Given the description of an element on the screen output the (x, y) to click on. 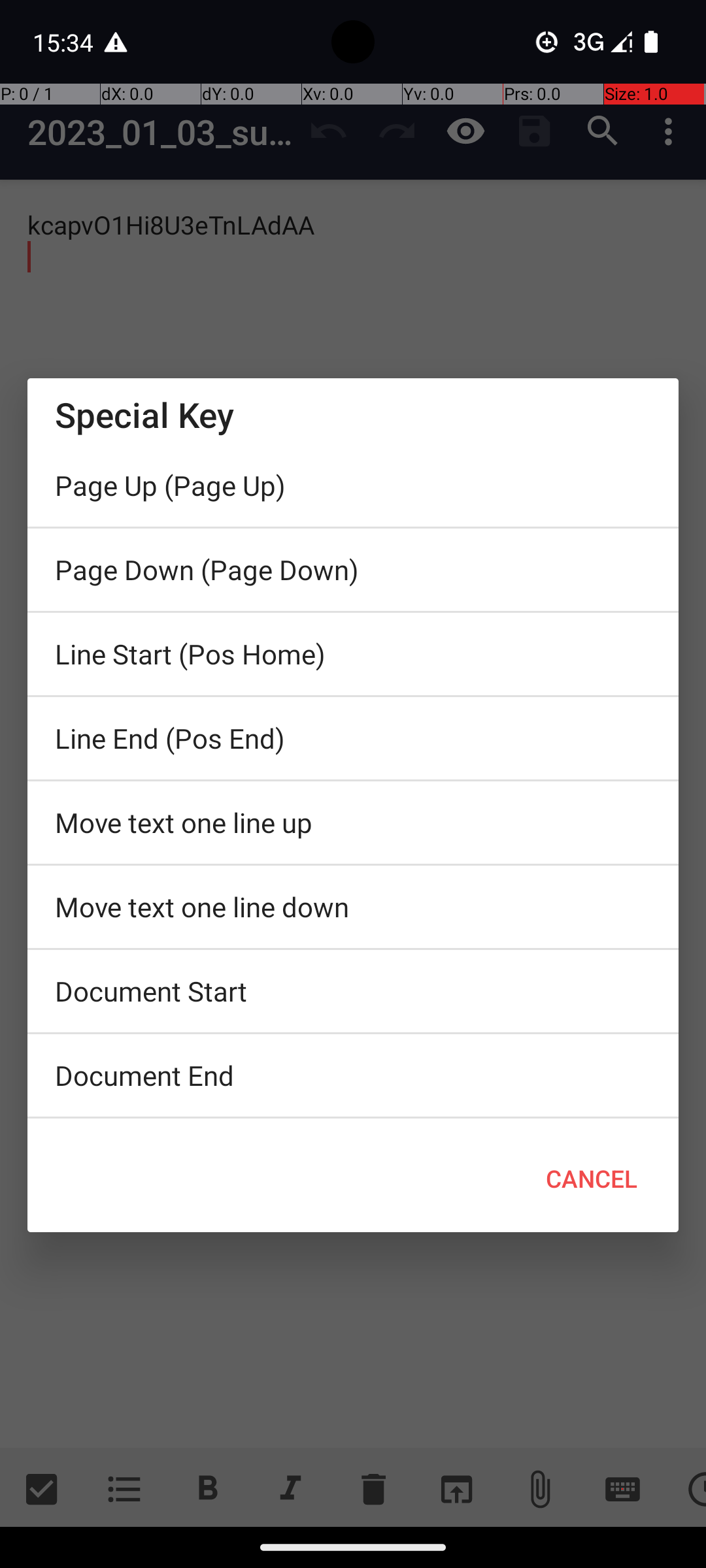
Page Up (Page Up) Element type: android.widget.TextView (352, 485)
Page Down (Page Down) Element type: android.widget.TextView (352, 569)
Line Start (Pos Home) Element type: android.widget.TextView (352, 653)
Line End (Pos End) Element type: android.widget.TextView (352, 738)
Move text one line up Element type: android.widget.TextView (352, 822)
Move text one line down Element type: android.widget.TextView (352, 906)
Document Start Element type: android.widget.TextView (352, 990)
Document End Element type: android.widget.TextView (352, 1075)
Select all (Ctrl+A) Element type: android.widget.TextView (352, 1121)
